Given the description of an element on the screen output the (x, y) to click on. 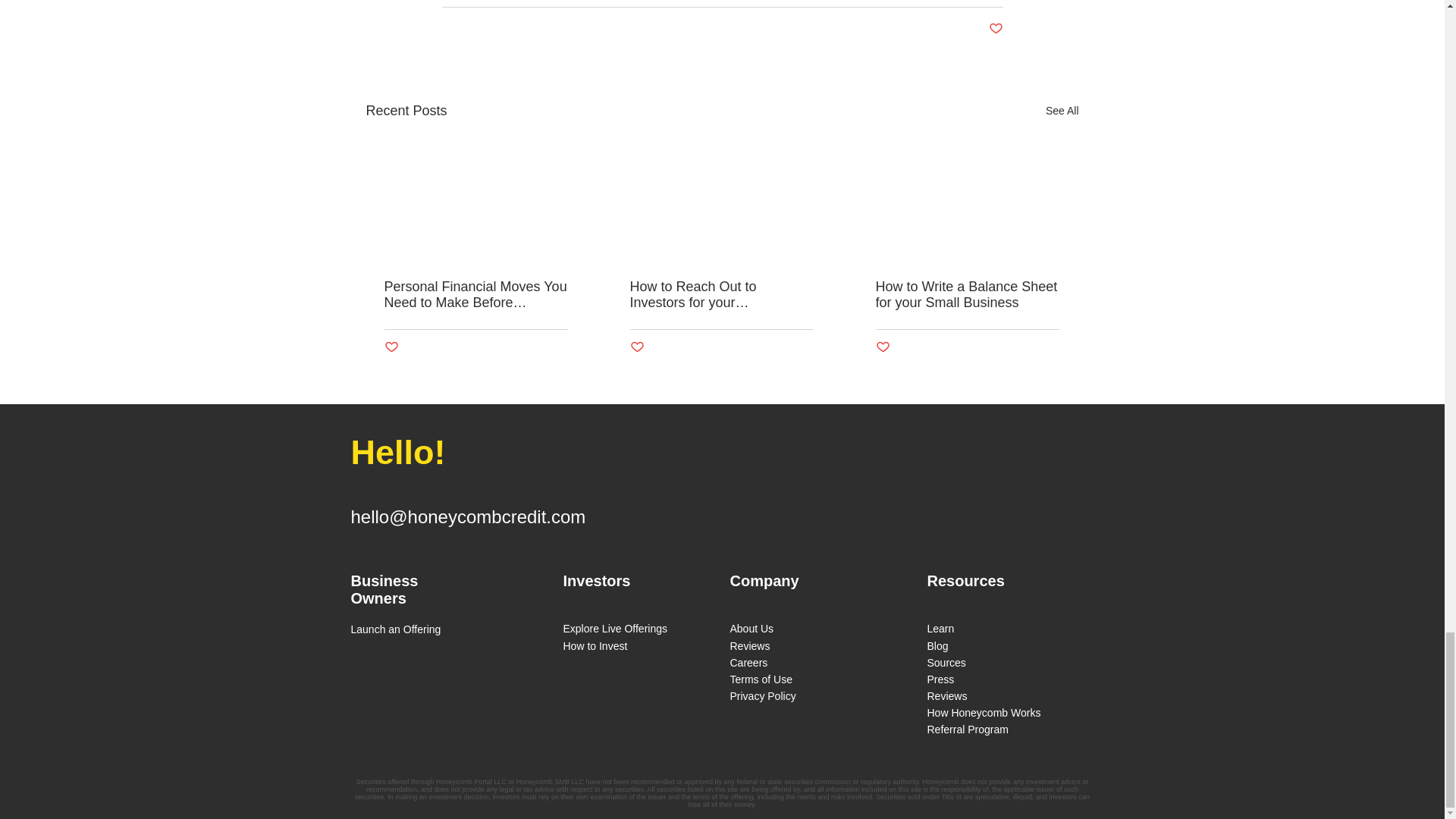
See All (1061, 110)
Post not marked as liked (995, 28)
Post not marked as liked (390, 347)
How to Reach Out to Investors for your Crowdfunding Campaign (720, 295)
Post not marked as liked (635, 347)
